Given the description of an element on the screen output the (x, y) to click on. 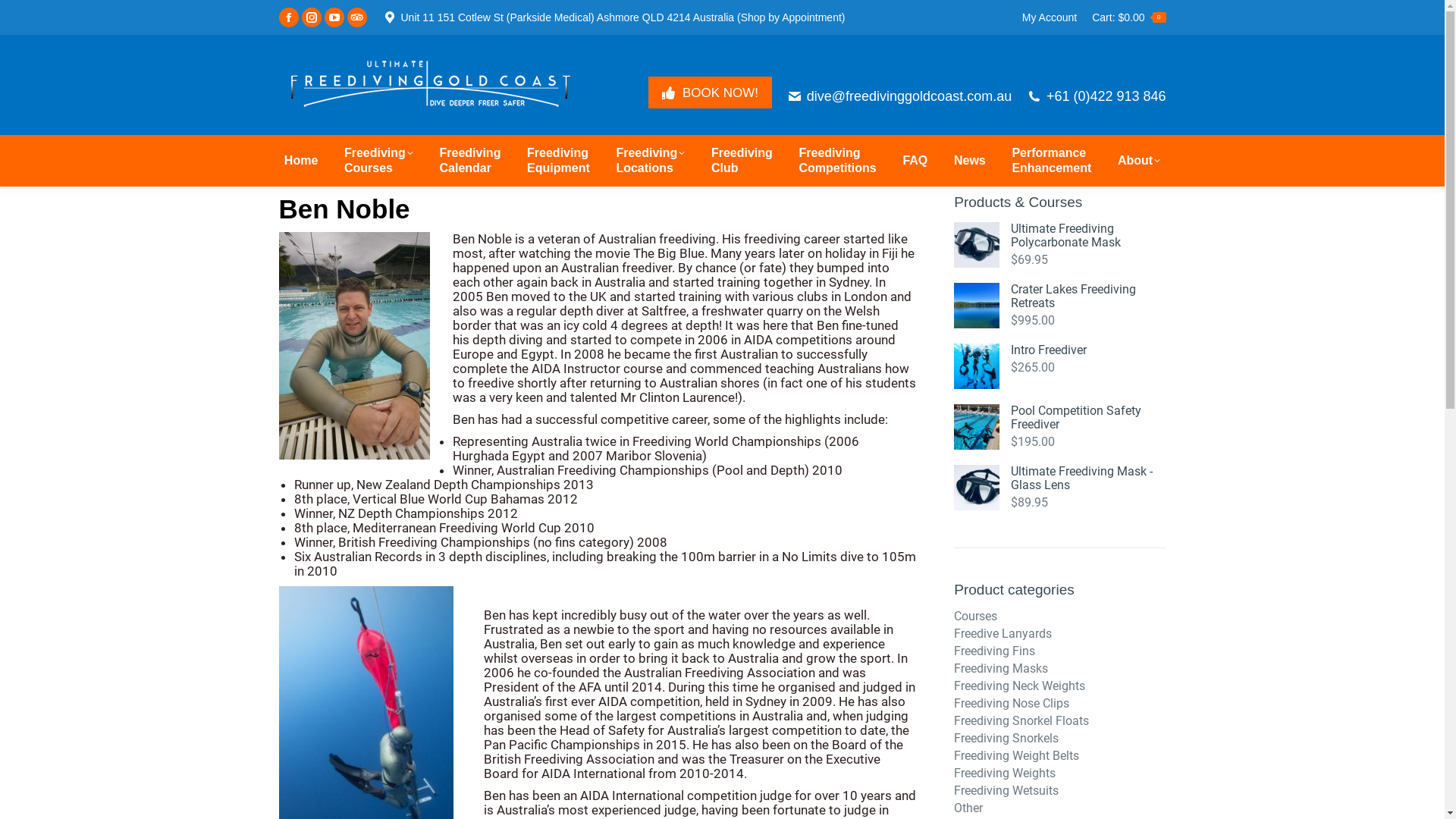
Freediving Neck Weights Element type: text (1019, 686)
Freediving Masks Element type: text (1000, 668)
Freediving Snorkels Element type: text (1005, 738)
Instagram page opens in new window Element type: text (311, 17)
Freediving
Calendar Element type: text (470, 160)
News Element type: text (969, 160)
Pool Competition Safety Freediver Element type: text (1087, 417)
Home Element type: text (300, 160)
YouTube page opens in new window Element type: text (334, 17)
FAQ Element type: text (914, 160)
Freediving Wetsuits Element type: text (1005, 790)
About Element type: text (1138, 160)
Crater Lakes Freediving Retreats Element type: text (1087, 296)
Intro Freediver Element type: text (1087, 350)
Freediving Weight Belts Element type: text (1016, 755)
Freediving
Club Element type: text (741, 160)
Freediving Weights Element type: text (1004, 773)
Freediving
Equipment Element type: text (558, 160)
Courses Element type: text (975, 616)
Other Element type: text (967, 808)
Ultimate Freediving Polycarbonate Mask Element type: text (1087, 235)
Facebook page opens in new window Element type: text (288, 17)
My Account Element type: text (1049, 17)
Performance
Enhancement Element type: text (1051, 160)
Ultimate Freediving Mask - Glass Lens Element type: text (1087, 478)
Freediving Nose Clips Element type: text (1011, 703)
Freediving Fins Element type: text (994, 651)
TripAdvisor page opens in new window Element type: text (357, 17)
BOOK NOW! Element type: text (709, 92)
Freediving
Competitions Element type: text (837, 160)
Freediving
Locations Element type: text (649, 160)
Freediving
Courses Element type: text (378, 160)
Cart: 
$0.00
0 Element type: text (1128, 17)
Freedive Lanyards Element type: text (1002, 633)
Freediving Snorkel Floats Element type: text (1020, 721)
